Given the description of an element on the screen output the (x, y) to click on. 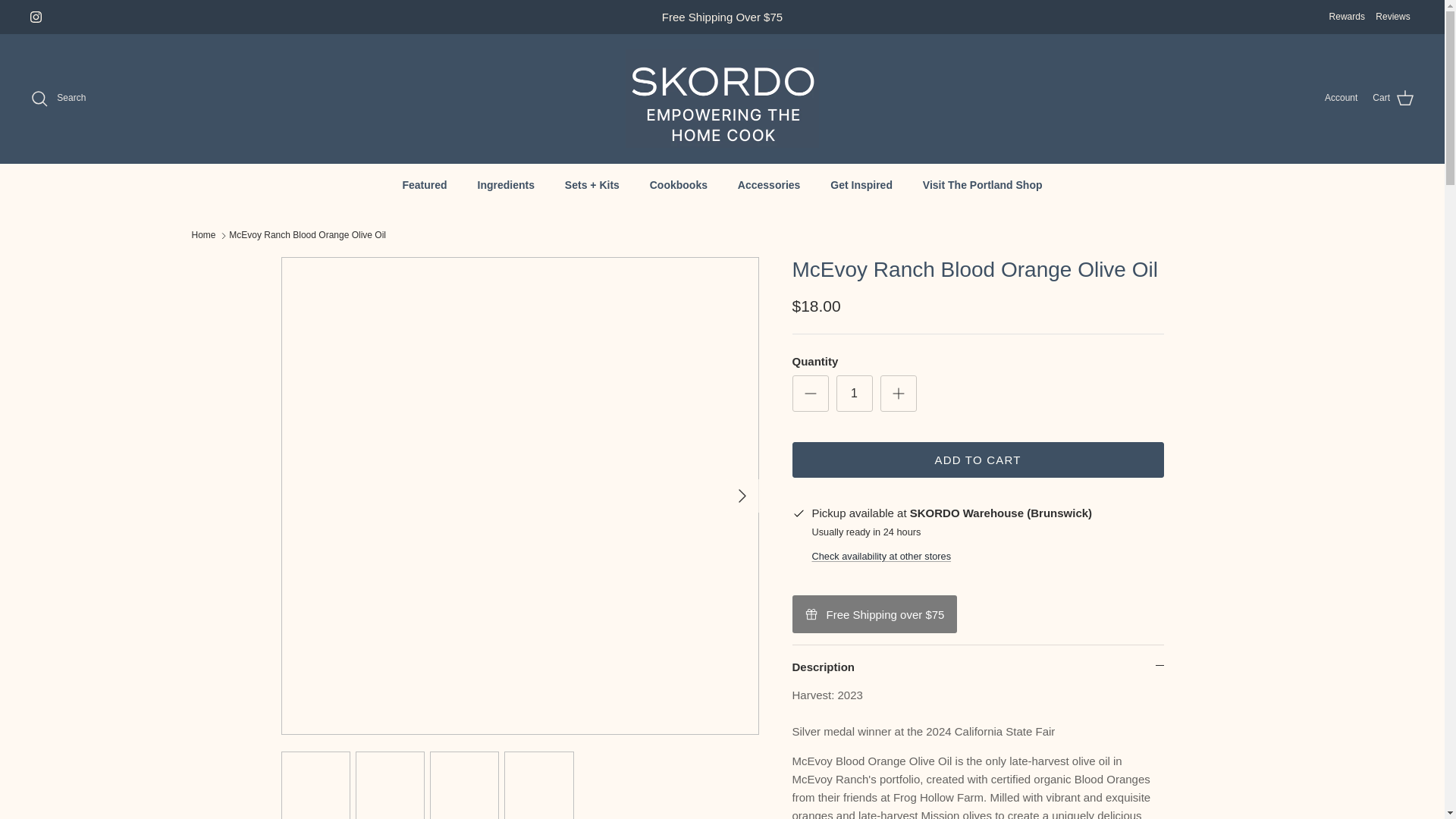
1 (853, 393)
Instagram (36, 16)
Search (57, 98)
Minus (809, 393)
Rewards (1347, 16)
Instagram (36, 16)
RIGHT (741, 495)
Reviews (1392, 16)
SKORDO (722, 98)
Cart (1393, 98)
Plus (897, 393)
Account (1340, 97)
